Given the description of an element on the screen output the (x, y) to click on. 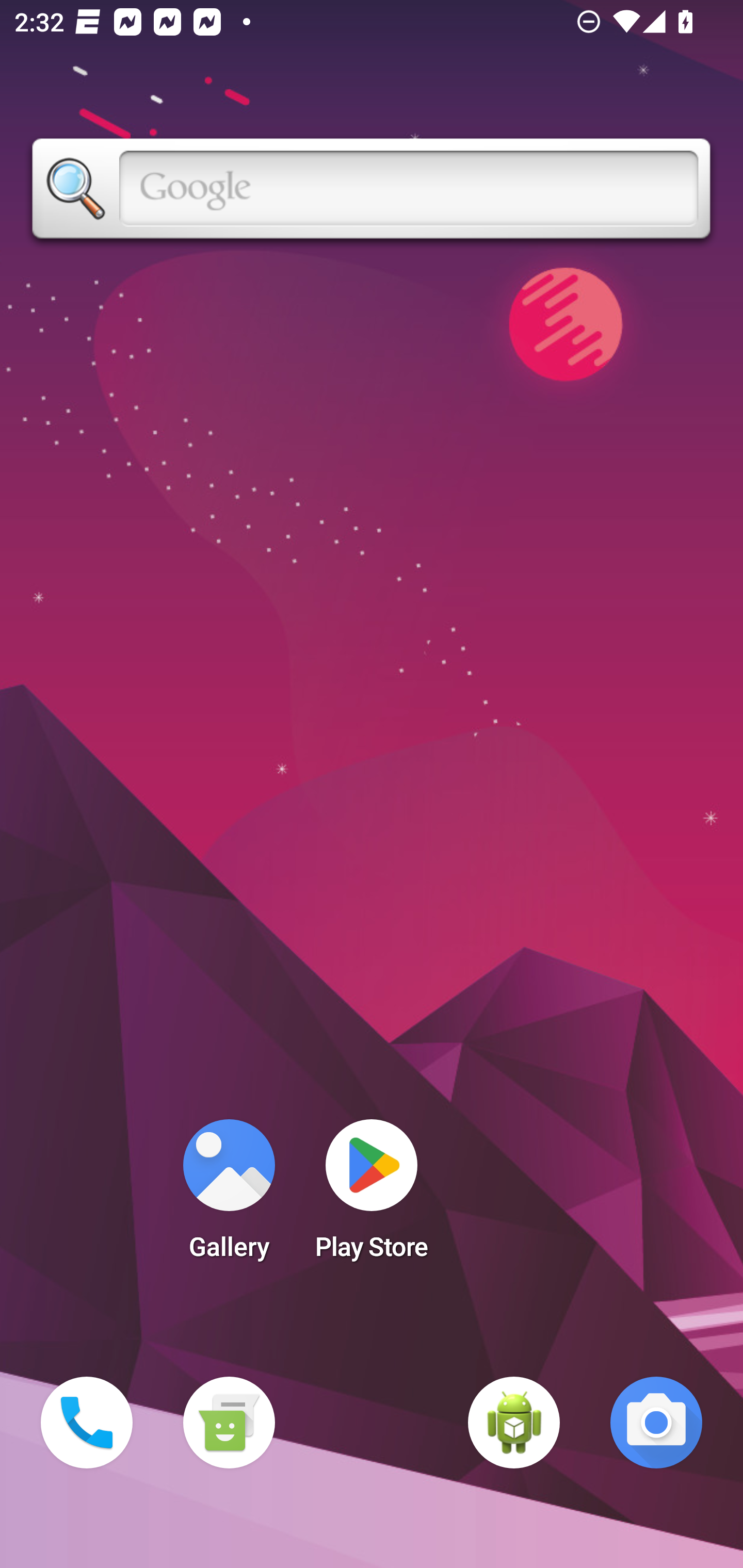
Gallery (228, 1195)
Play Store (371, 1195)
Phone (86, 1422)
Messaging (228, 1422)
WebView Browser Tester (513, 1422)
Camera (656, 1422)
